Given the description of an element on the screen output the (x, y) to click on. 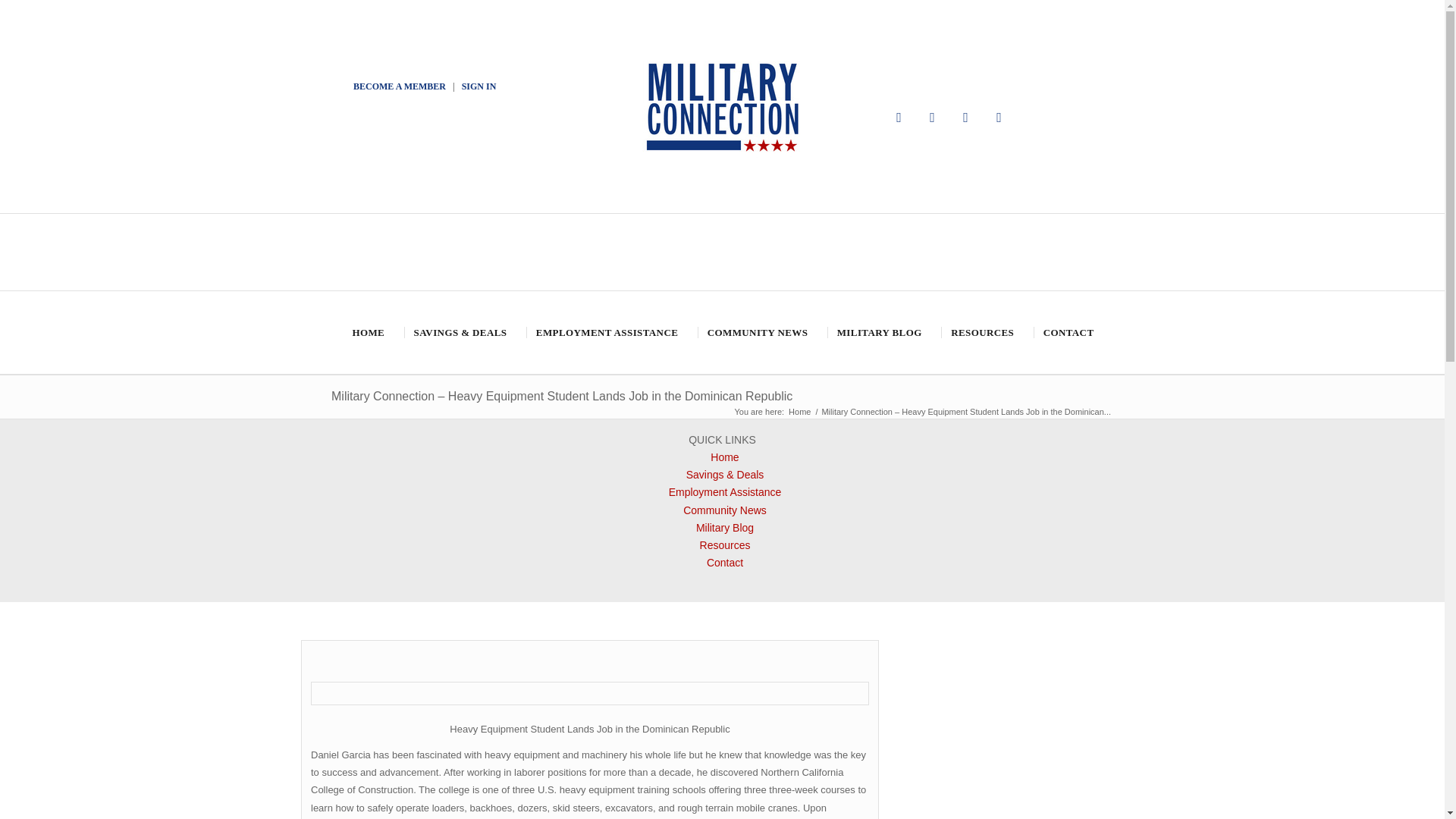
Community News (724, 510)
COMMUNITY NEWS (756, 332)
HOME (366, 332)
Military Connection (799, 411)
MILITARY BLOG (878, 332)
Twitter (932, 117)
Contact (724, 562)
EMPLOYMENT ASSISTANCE (605, 332)
RESOURCES (981, 332)
Facebook (899, 117)
BECOME A MEMBER (399, 86)
Military Blog (724, 527)
LinkedIn (999, 117)
Home (799, 411)
CONTACT (1067, 332)
